Given the description of an element on the screen output the (x, y) to click on. 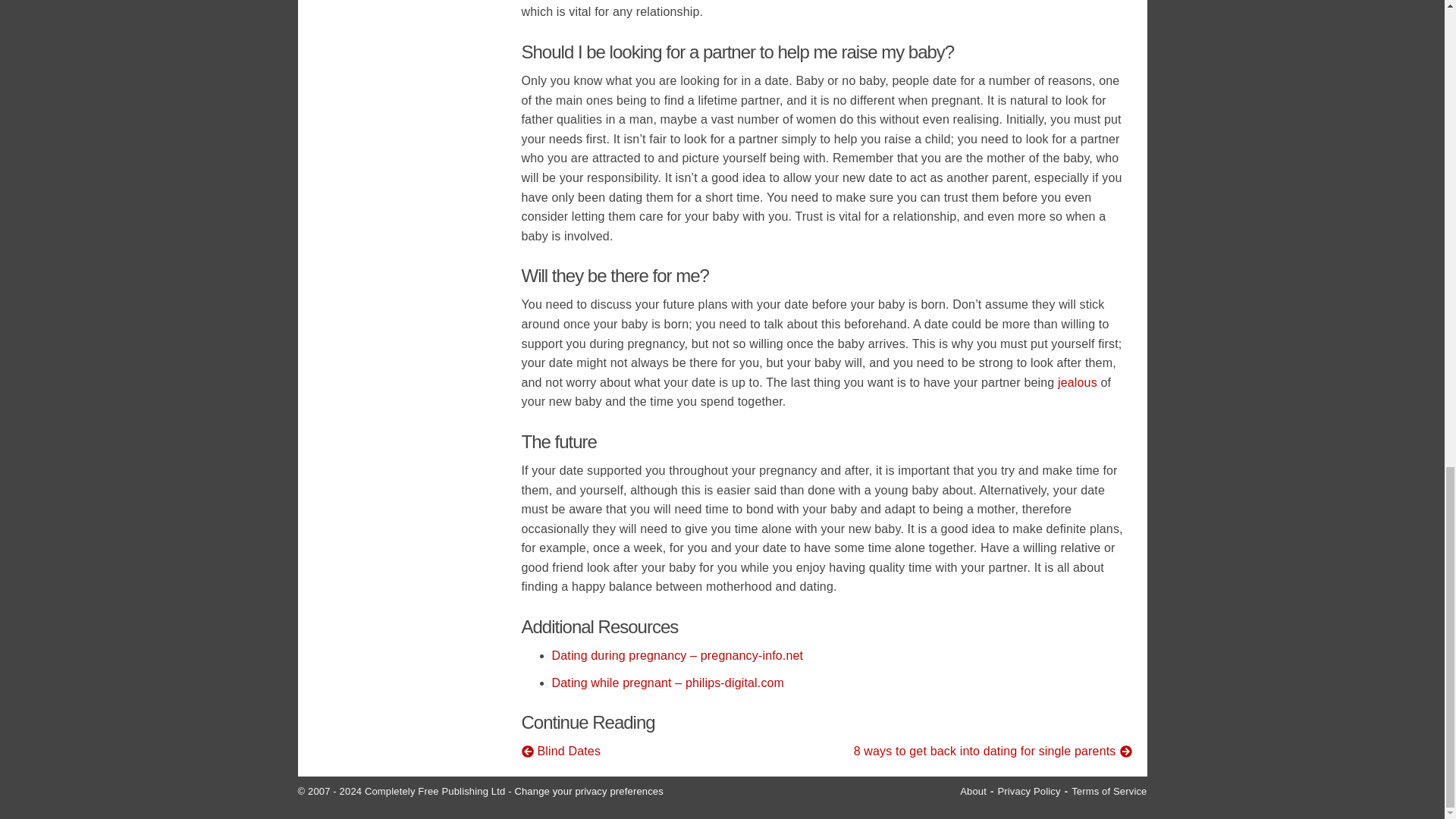
jealous (1077, 382)
Change your privacy preferences (587, 790)
Terms of Service (1109, 790)
Privacy Policy (1028, 790)
8 ways to get back into dating for single parents (983, 751)
About (973, 790)
Blind Dates (670, 751)
